Given the description of an element on the screen output the (x, y) to click on. 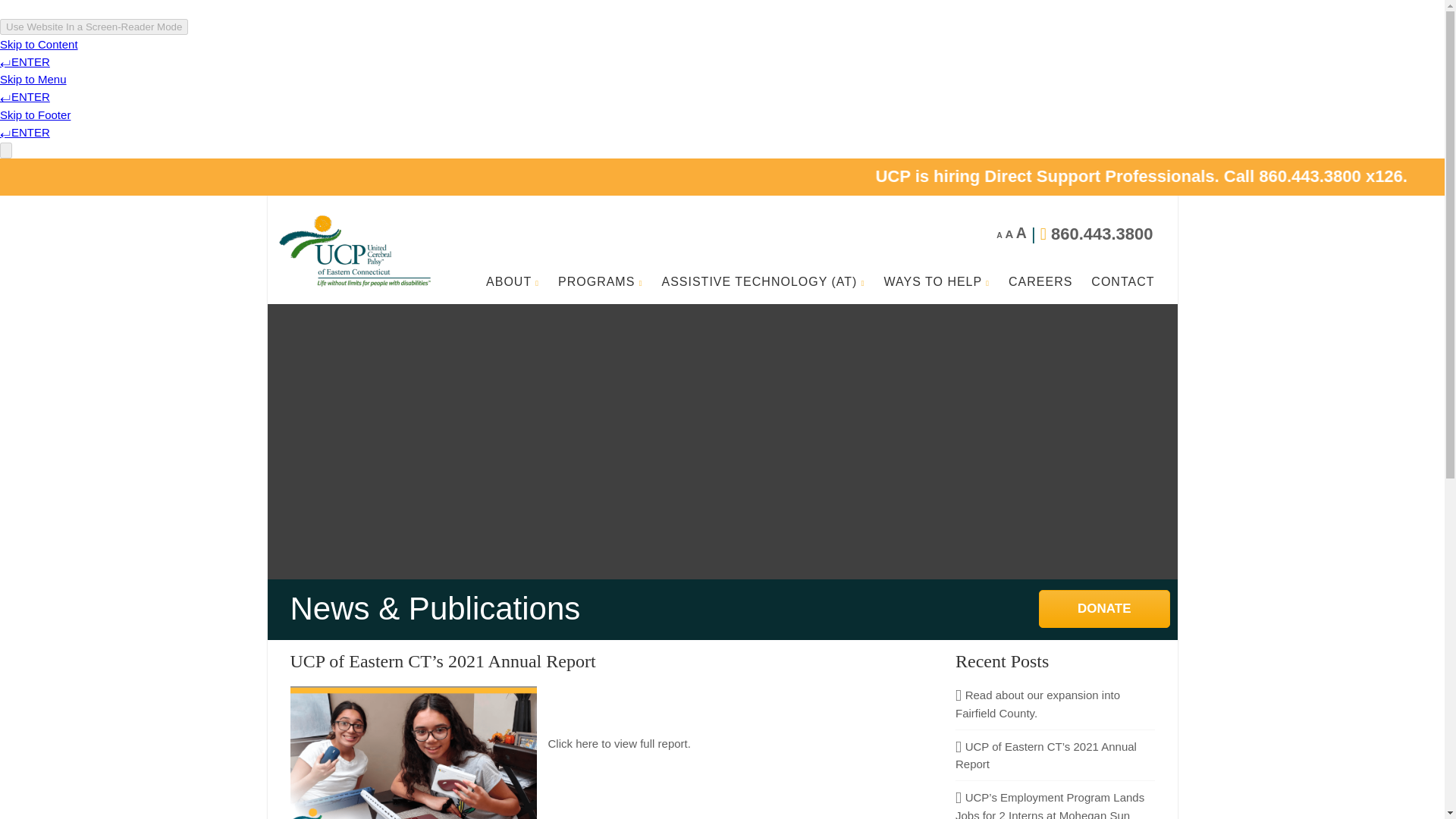
Donate (1104, 608)
WAYS TO HELP (936, 281)
PROGRAMS (599, 281)
UCP is hiring Direct Support Professionals. (1186, 176)
860.443.3800 (1102, 233)
Call 860.443.3800 x126. (1408, 176)
ABOUT (512, 281)
